Given the description of an element on the screen output the (x, y) to click on. 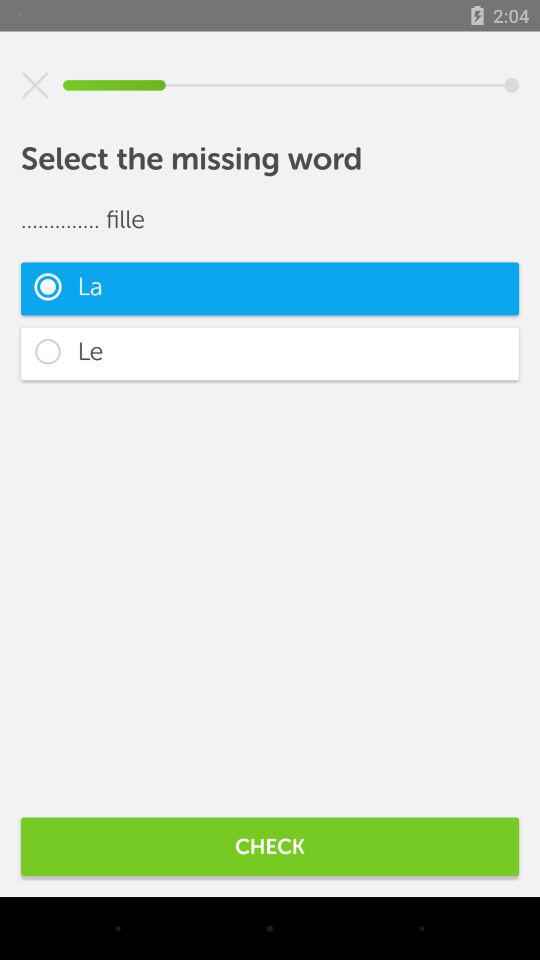
click le (270, 353)
